Given the description of an element on the screen output the (x, y) to click on. 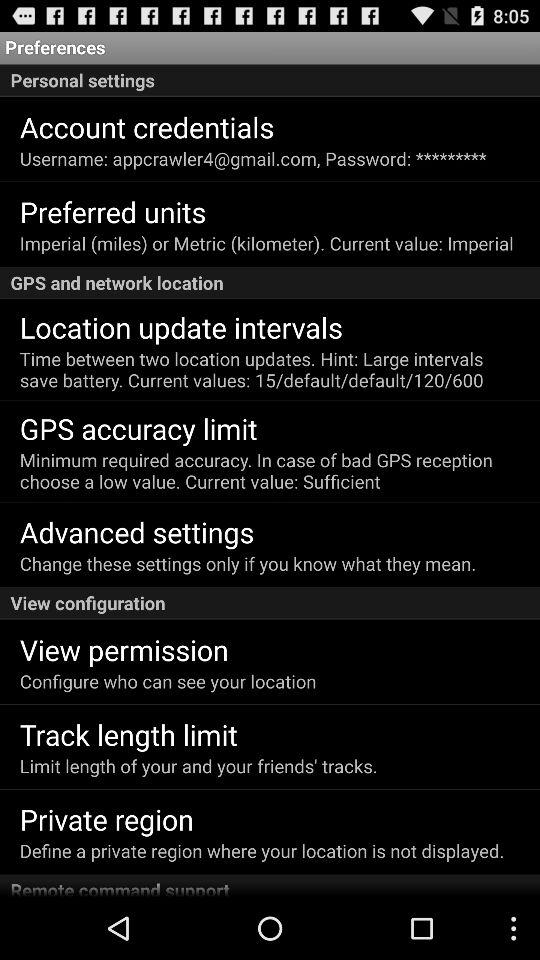
tap item below the location update intervals icon (269, 369)
